Given the description of an element on the screen output the (x, y) to click on. 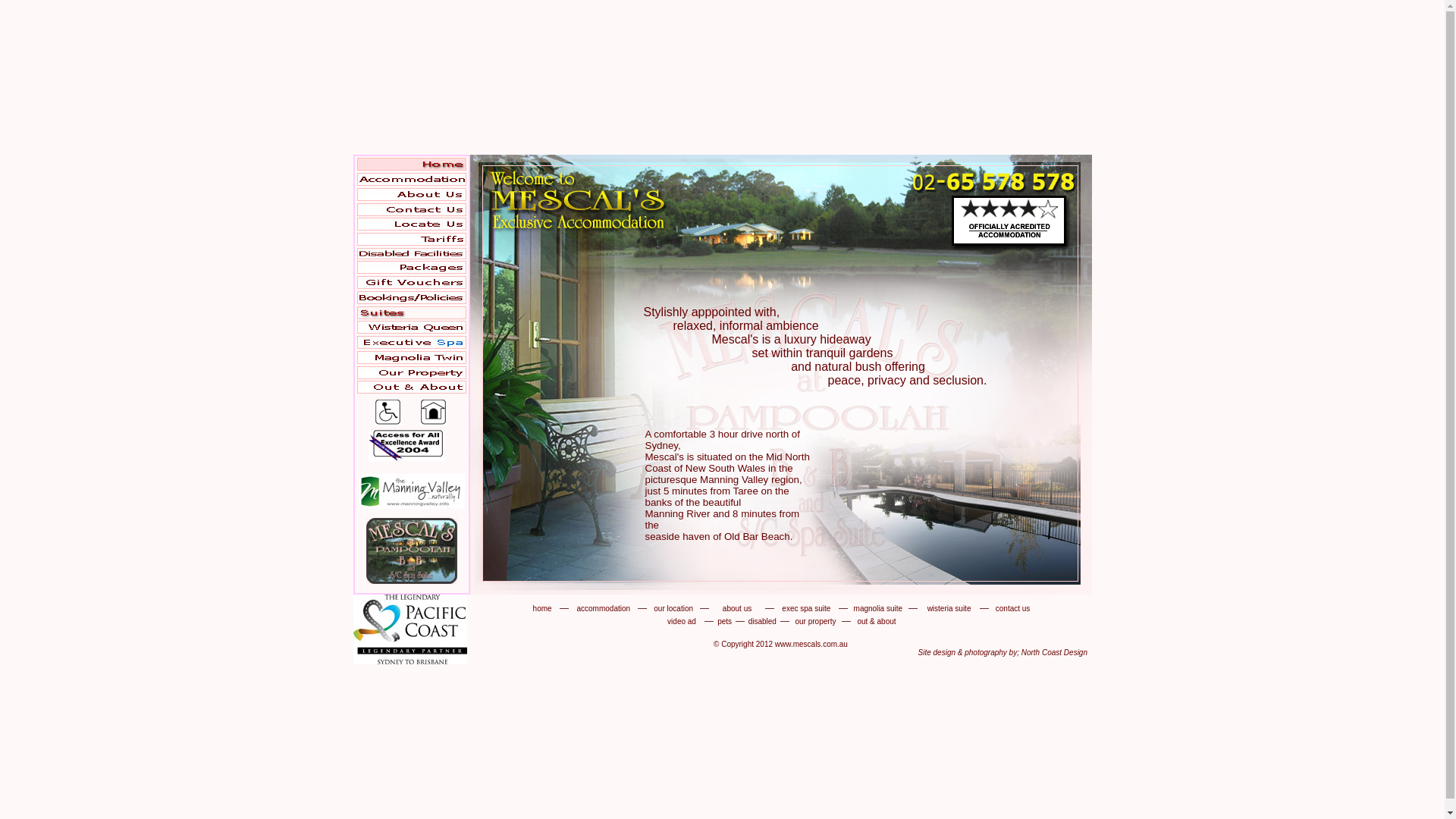
Self contained Element type: hover (410, 345)
our location Element type: text (673, 607)
Contact Element type: hover (410, 212)
Our accommodation Element type: hover (410, 182)
Disabled facilities Element type: hover (388, 421)
Tariffs Element type: hover (410, 241)
video ad Element type: text (681, 620)
Video ad Element type: hover (410, 580)
Disabled facilities Element type: hover (410, 255)
Gift vouchers Element type: hover (410, 285)
our property Element type: text (814, 620)
exec spa suite Element type: text (805, 607)
wisteria suite Element type: text (949, 607)
Site design & photography by; North Coast Design Element type: text (1002, 651)
disabled Element type: text (762, 620)
accommodation Element type: text (603, 607)
pets Element type: text (724, 620)
Home page Element type: hover (410, 166)
contact us Element type: text (1012, 607)
Manning Valley Tourist information Element type: hover (410, 505)
Booking policies Element type: hover (410, 300)
about us Element type: text (736, 607)
out & about Element type: text (875, 620)
Info about pets Element type: hover (433, 421)
home Element type: text (542, 607)
King twin singles Element type: hover (410, 360)
Packages on offer Element type: hover (410, 270)
Queen suite Element type: hover (410, 329)
About the Manning Valley Element type: hover (410, 389)
magnolia suite Element type: text (877, 607)
Our location Element type: hover (410, 226)
About our property Element type: hover (410, 375)
About Mescals Element type: hover (410, 197)
Disabled facilities Element type: hover (406, 457)
